Given the description of an element on the screen output the (x, y) to click on. 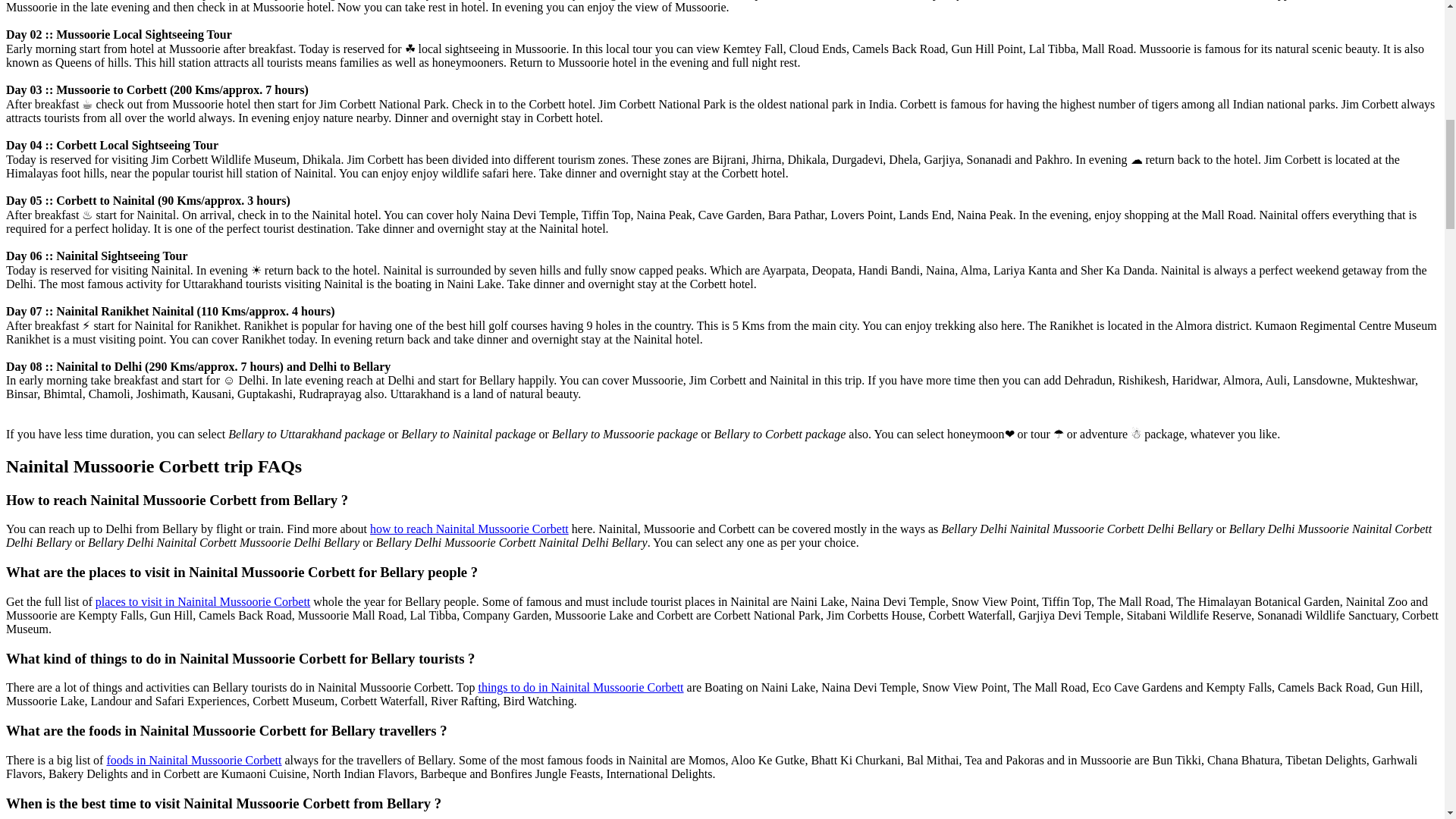
places to visit in Nainital Mussoorie Corbett (203, 601)
how to reach Nainital Mussoorie Corbett (469, 528)
foods in Nainital Mussoorie Corbett (193, 759)
things to do in Nainital Mussoorie Corbett (579, 686)
